Given the description of an element on the screen output the (x, y) to click on. 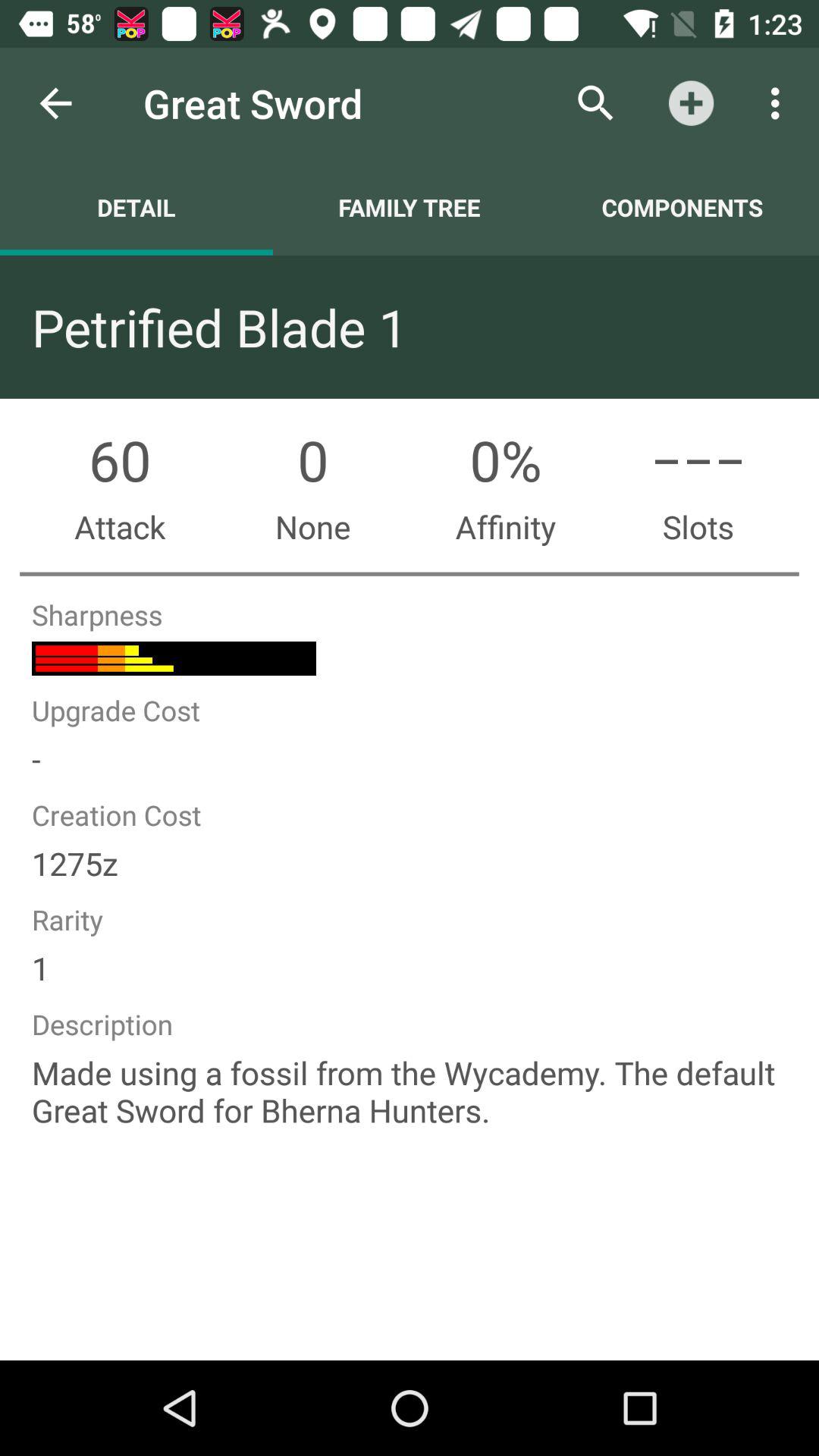
select app to the right of family tree (682, 207)
